Given the description of an element on the screen output the (x, y) to click on. 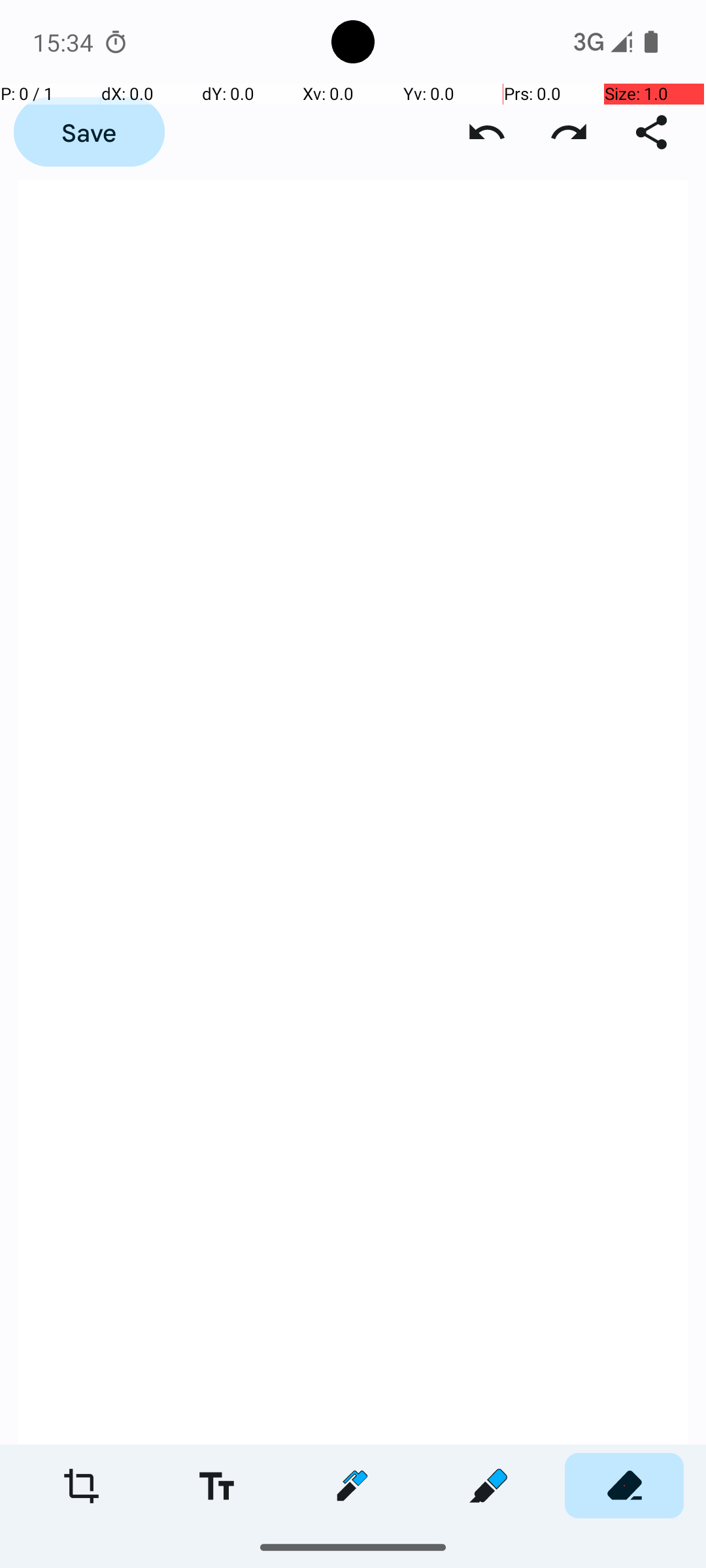
Drawing canvas Element type: android.widget.LinearLayout (353, 812)
Crop Element type: android.widget.Button (81, 1485)
Pen Element type: android.widget.Button (352, 1485)
Highlighter Element type: android.widget.Button (488, 1485)
